Given the description of an element on the screen output the (x, y) to click on. 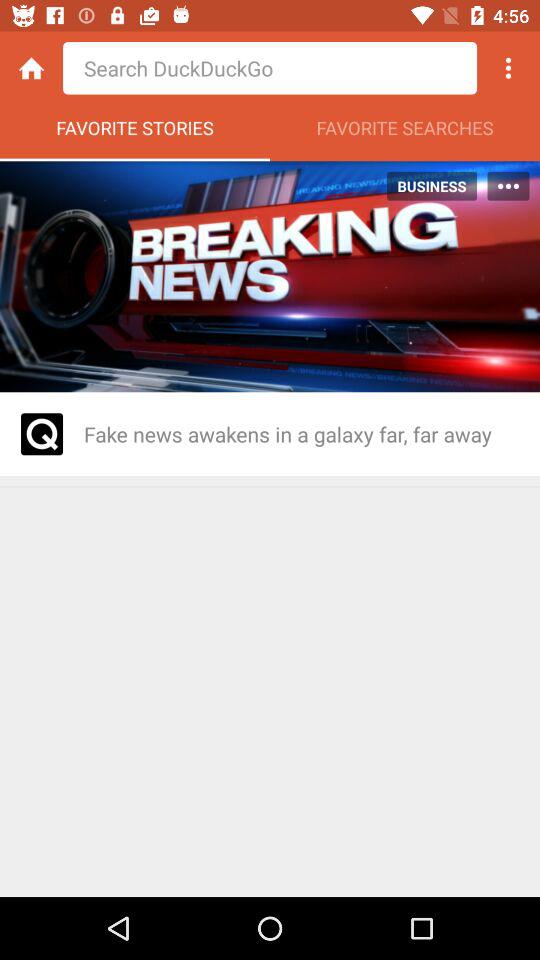
select the item to the left of the favorite searches icon (135, 133)
